Given the description of an element on the screen output the (x, y) to click on. 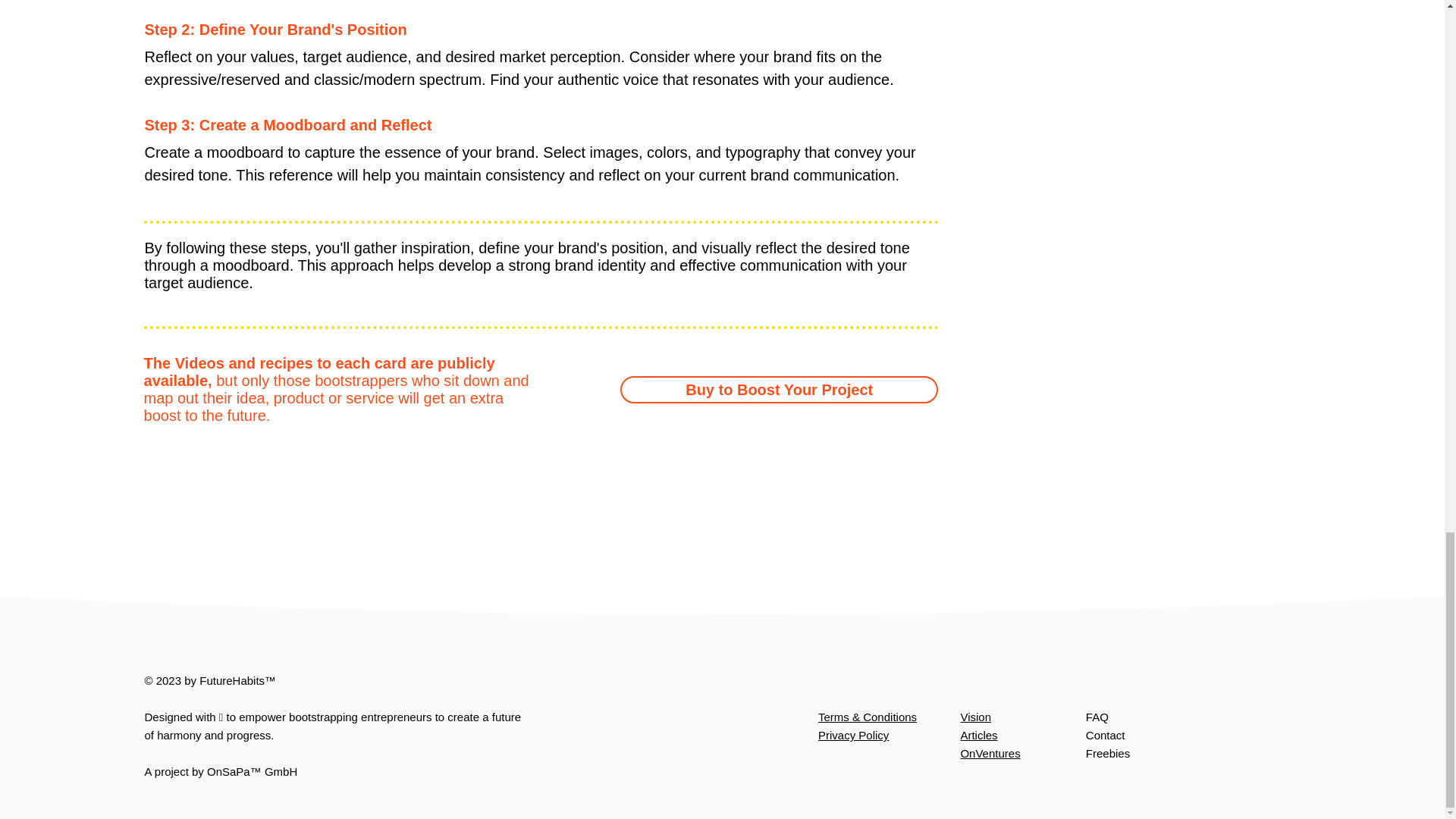
Buy to Boost Your Project (778, 389)
Articles (978, 735)
OnVentures (989, 753)
Privacy Policy (853, 735)
Vision (975, 716)
